Given the description of an element on the screen output the (x, y) to click on. 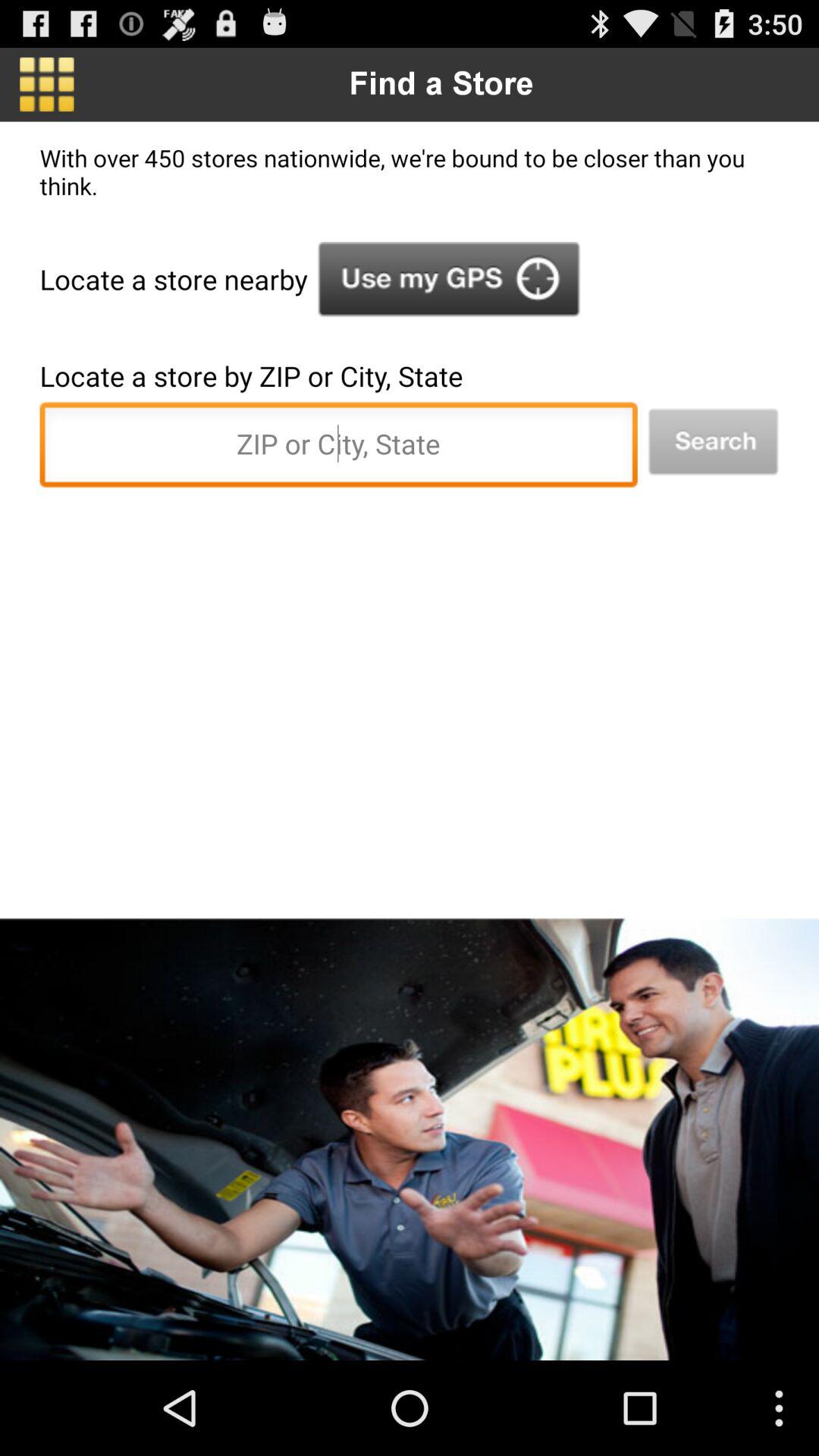
tap item next to locate a store app (448, 279)
